Given the description of an element on the screen output the (x, y) to click on. 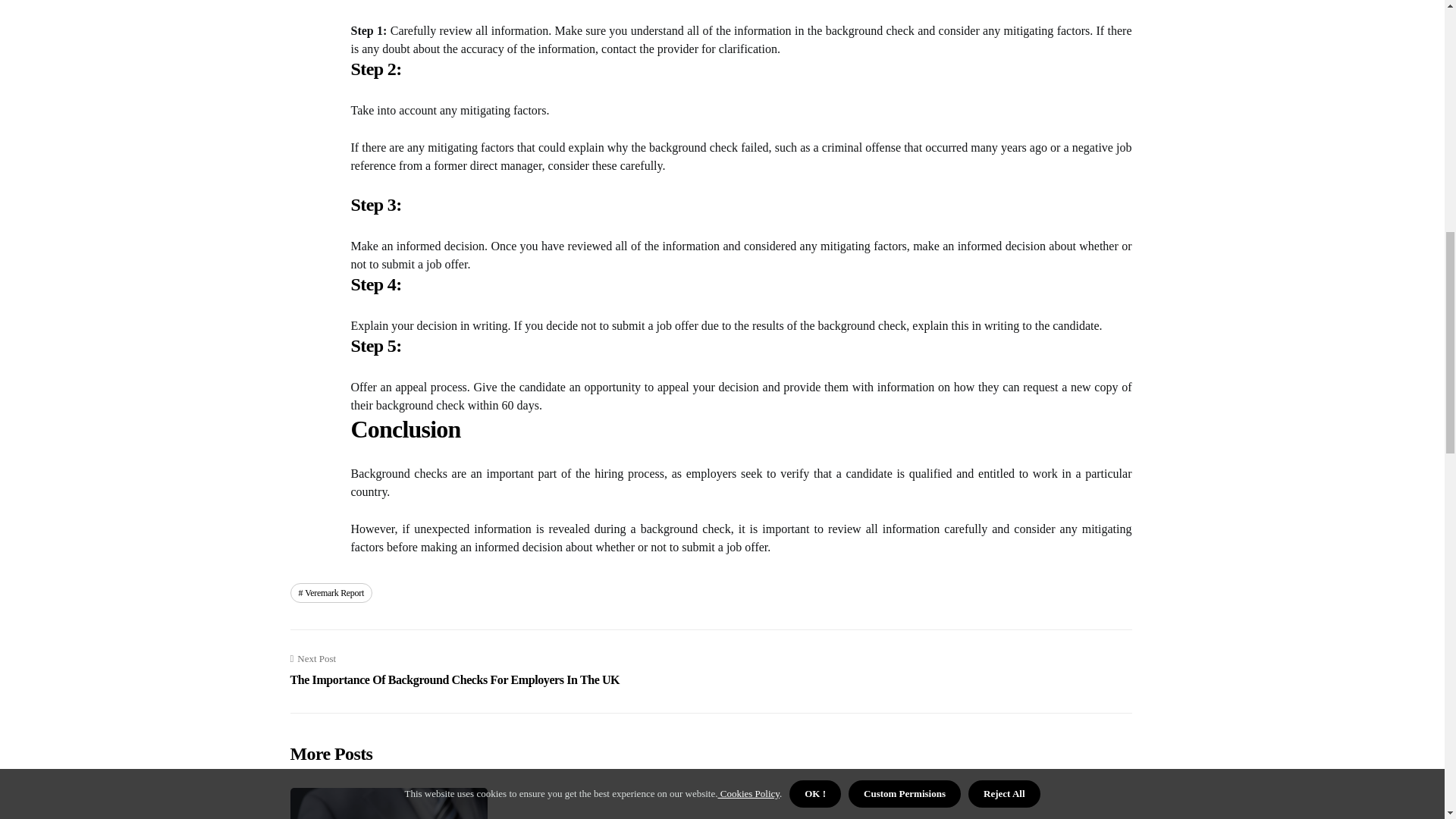
Veremark Report (330, 592)
